Given the description of an element on the screen output the (x, y) to click on. 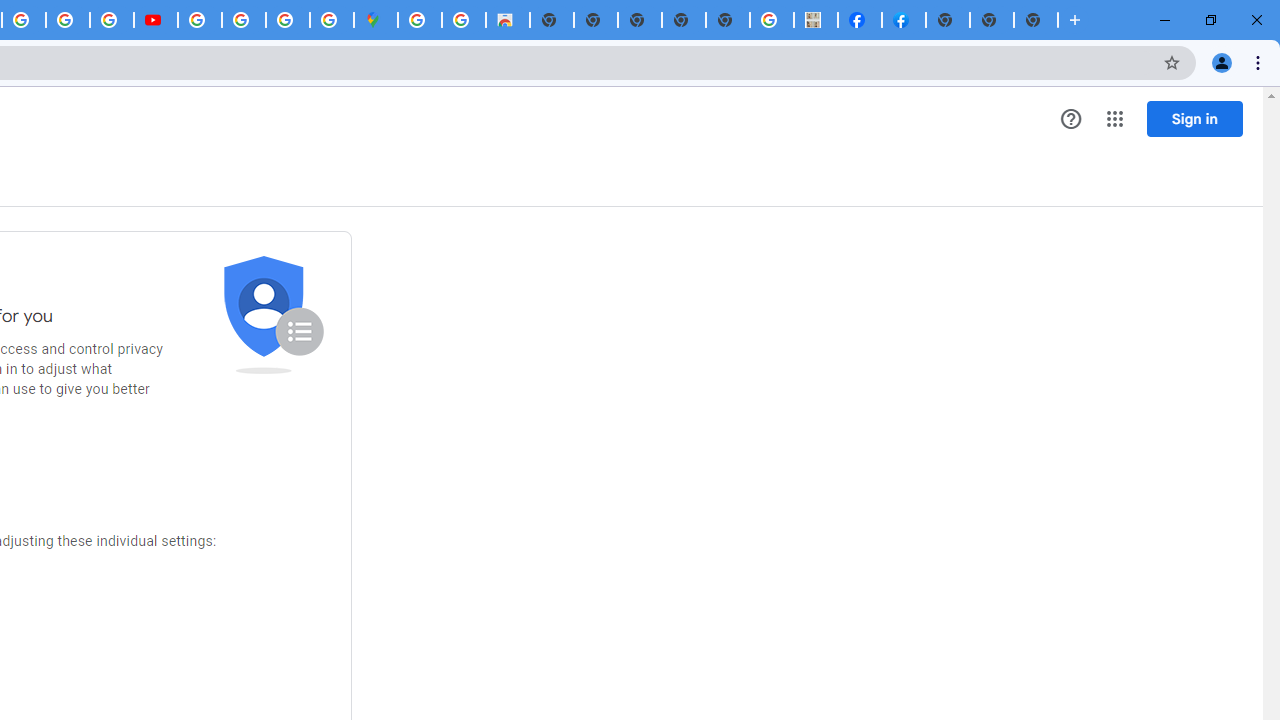
Sign Up for Facebook (903, 20)
Chrome Web Store - Shopping (507, 20)
New Tab (947, 20)
Privacy Help Center - Policies Help (67, 20)
Google Maps (376, 20)
How Chrome protects your passwords - Google Chrome Help (199, 20)
